Given the description of an element on the screen output the (x, y) to click on. 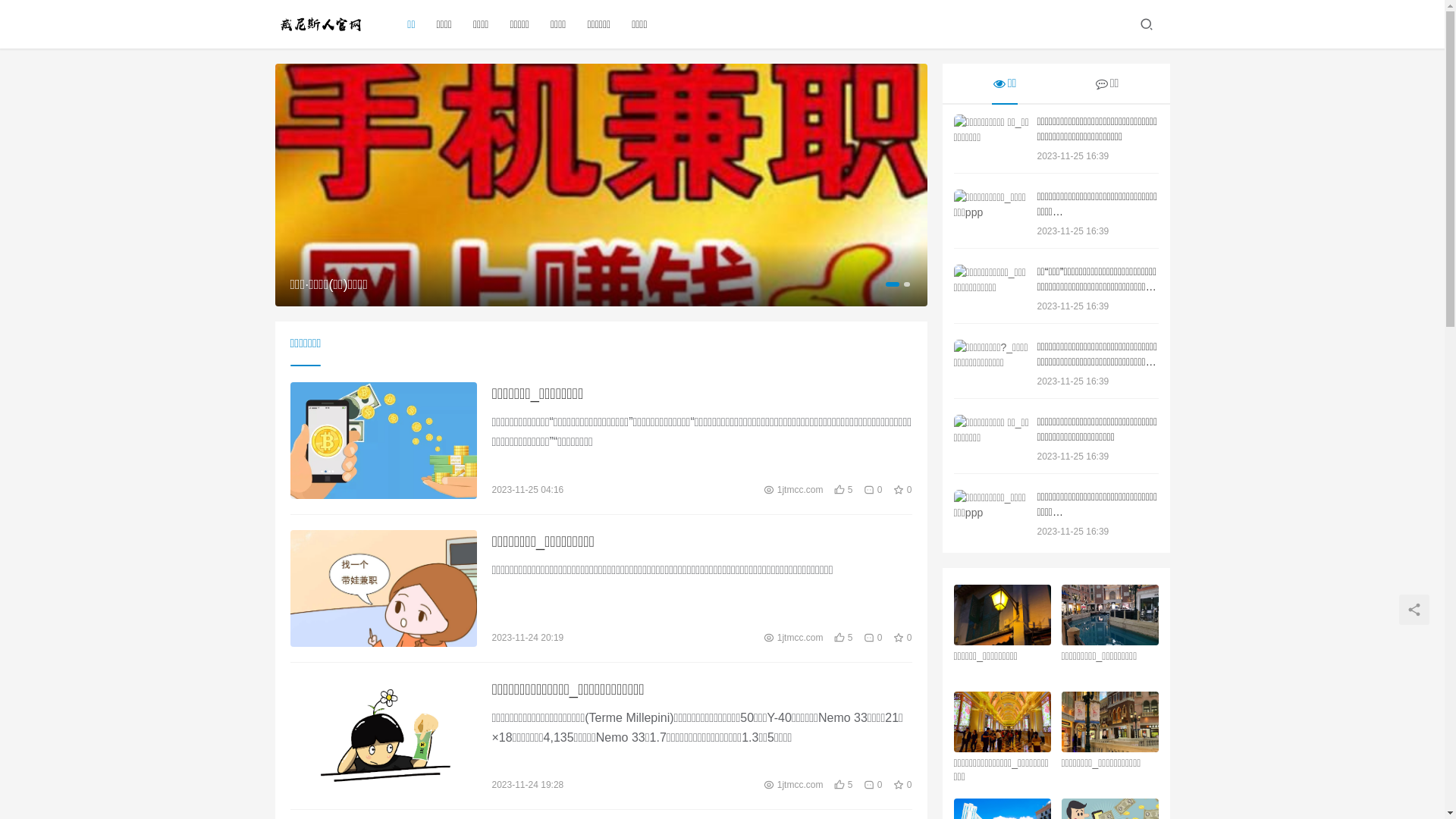
0 Element type: text (872, 489)
0 Element type: text (872, 636)
0 Element type: text (872, 784)
